Given the description of an element on the screen output the (x, y) to click on. 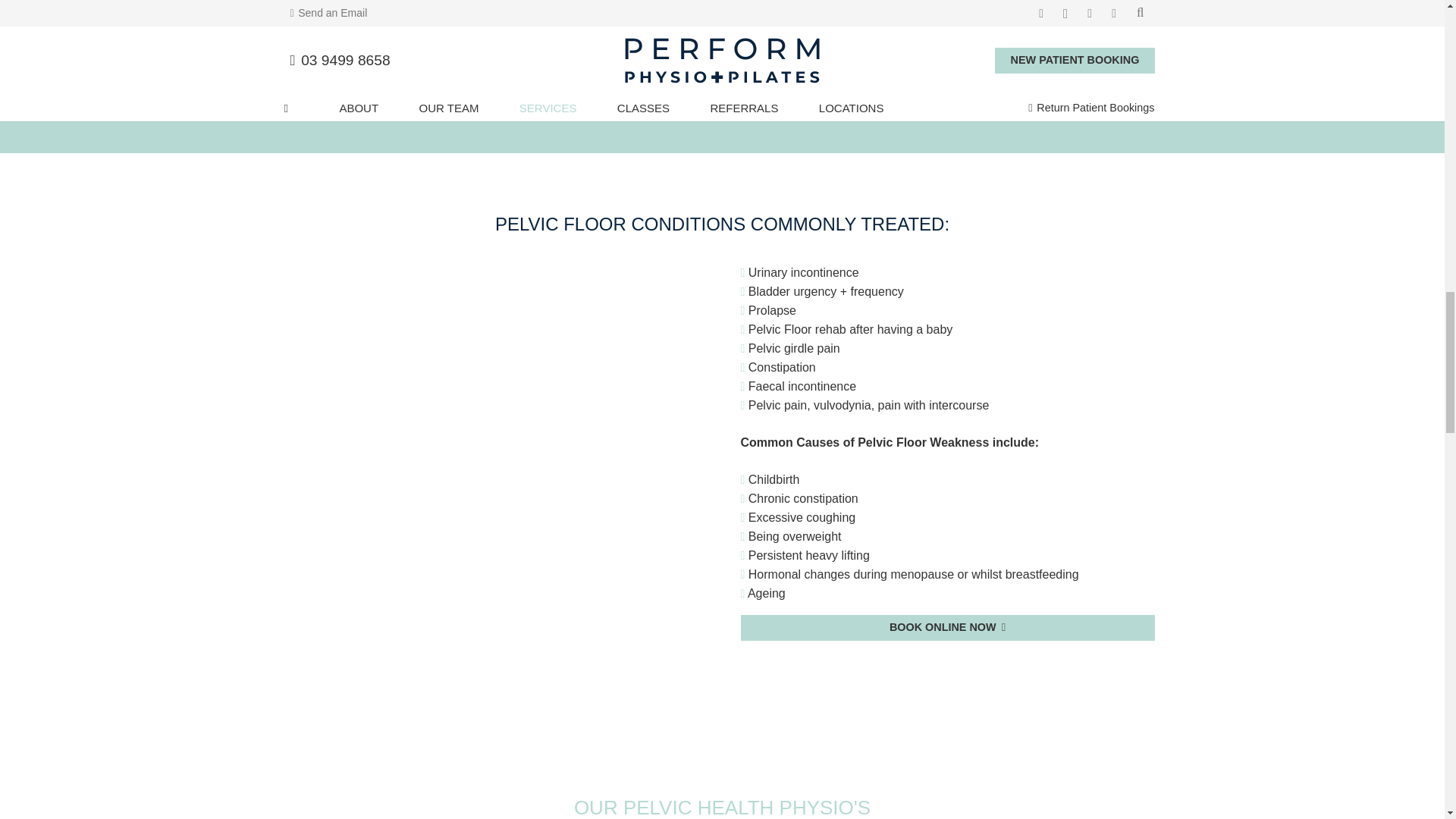
Book Online (721, 39)
Book Online (946, 628)
